Given the description of an element on the screen output the (x, y) to click on. 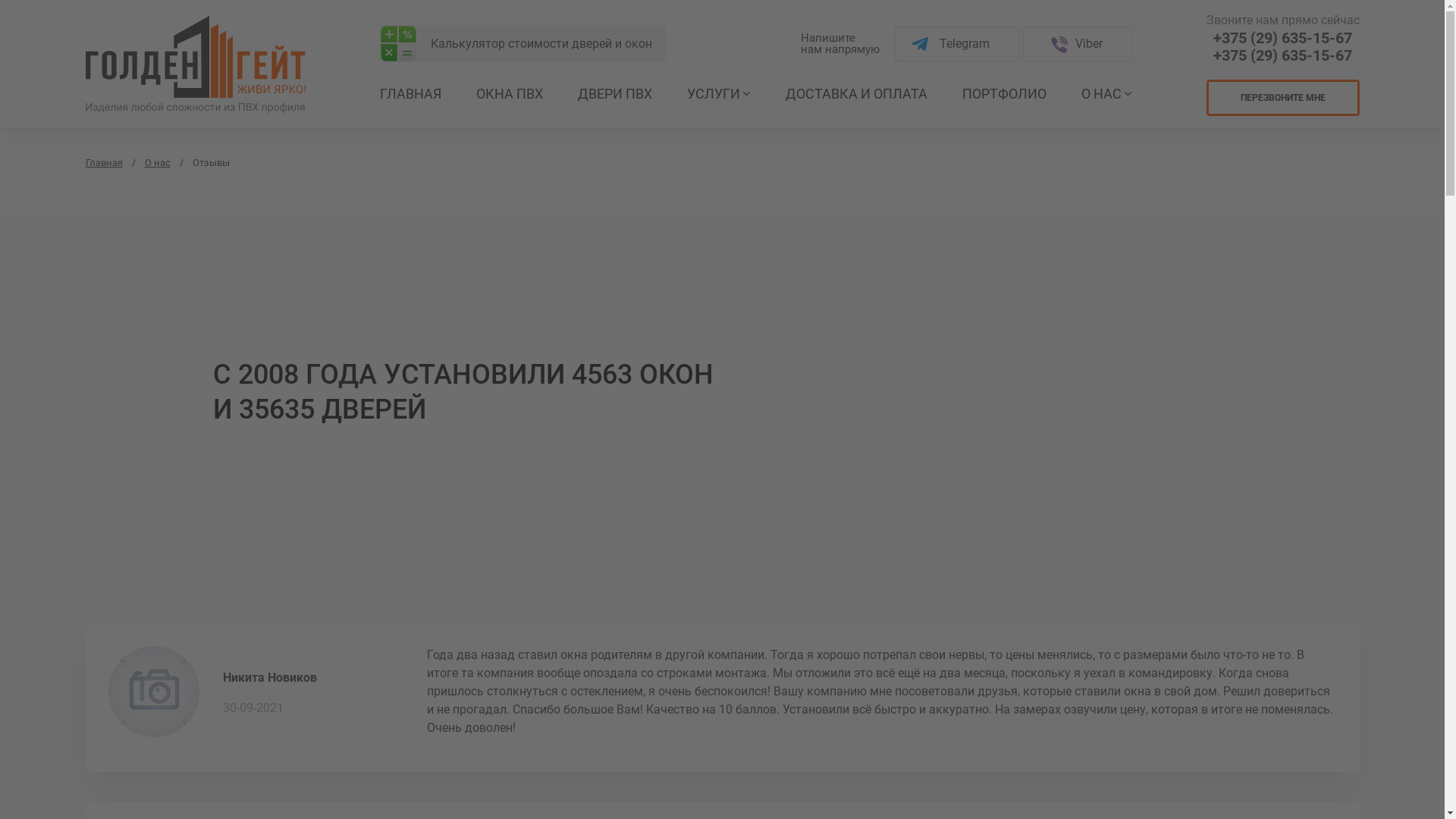
+375 (29) 635-15-67 Element type: text (1282, 38)
Viber Element type: text (1077, 42)
Telegram Element type: text (956, 42)
+375 (29) 635-15-67 Element type: text (1282, 55)
